Given the description of an element on the screen output the (x, y) to click on. 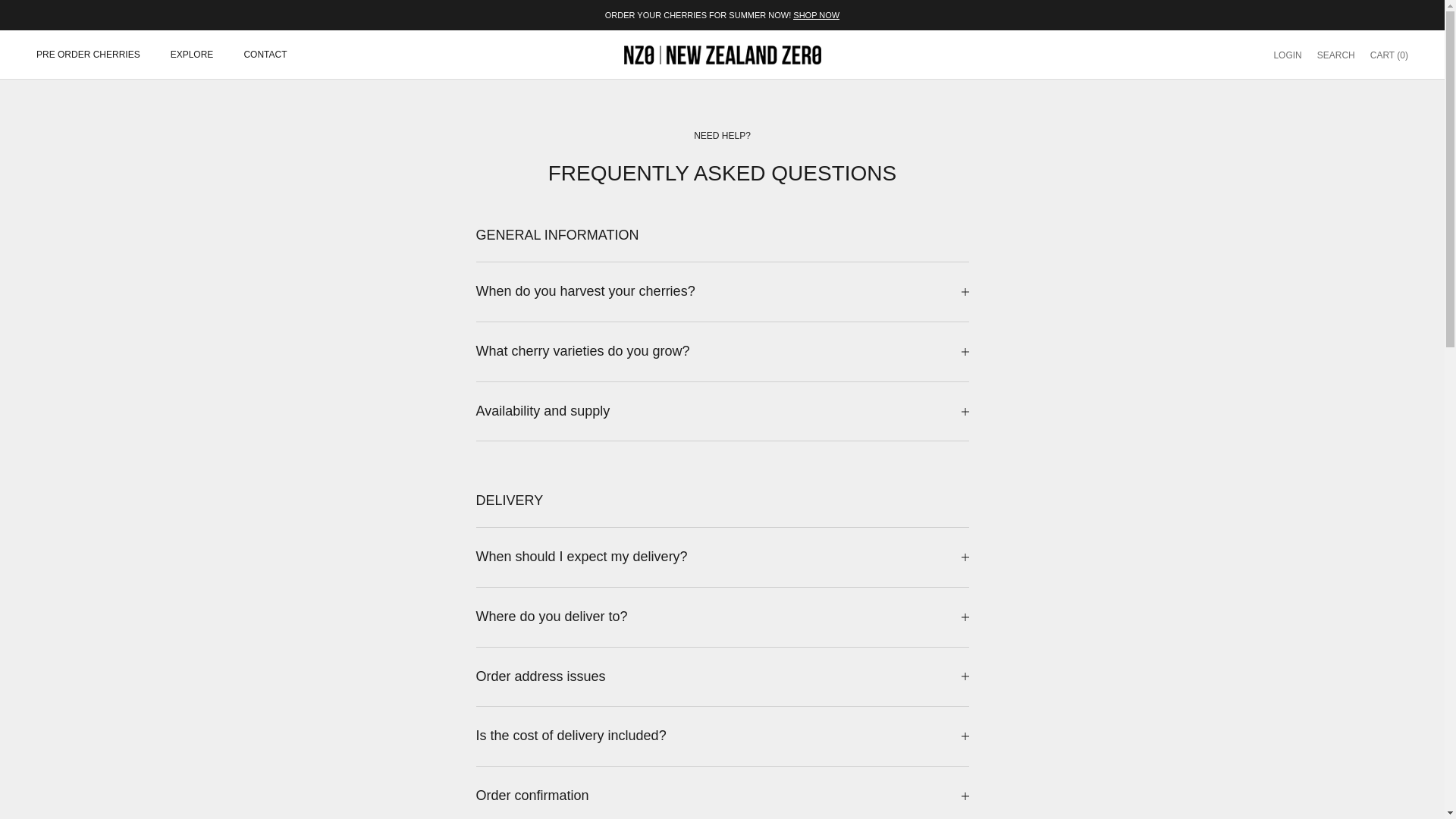
PRE ORDER CHERRIES (1286, 54)
New Zealand Zero - Zero Fossil Fuel Cherries (87, 54)
SHOP NOW (722, 54)
All products (816, 14)
CONTACT (1336, 54)
